Given the description of an element on the screen output the (x, y) to click on. 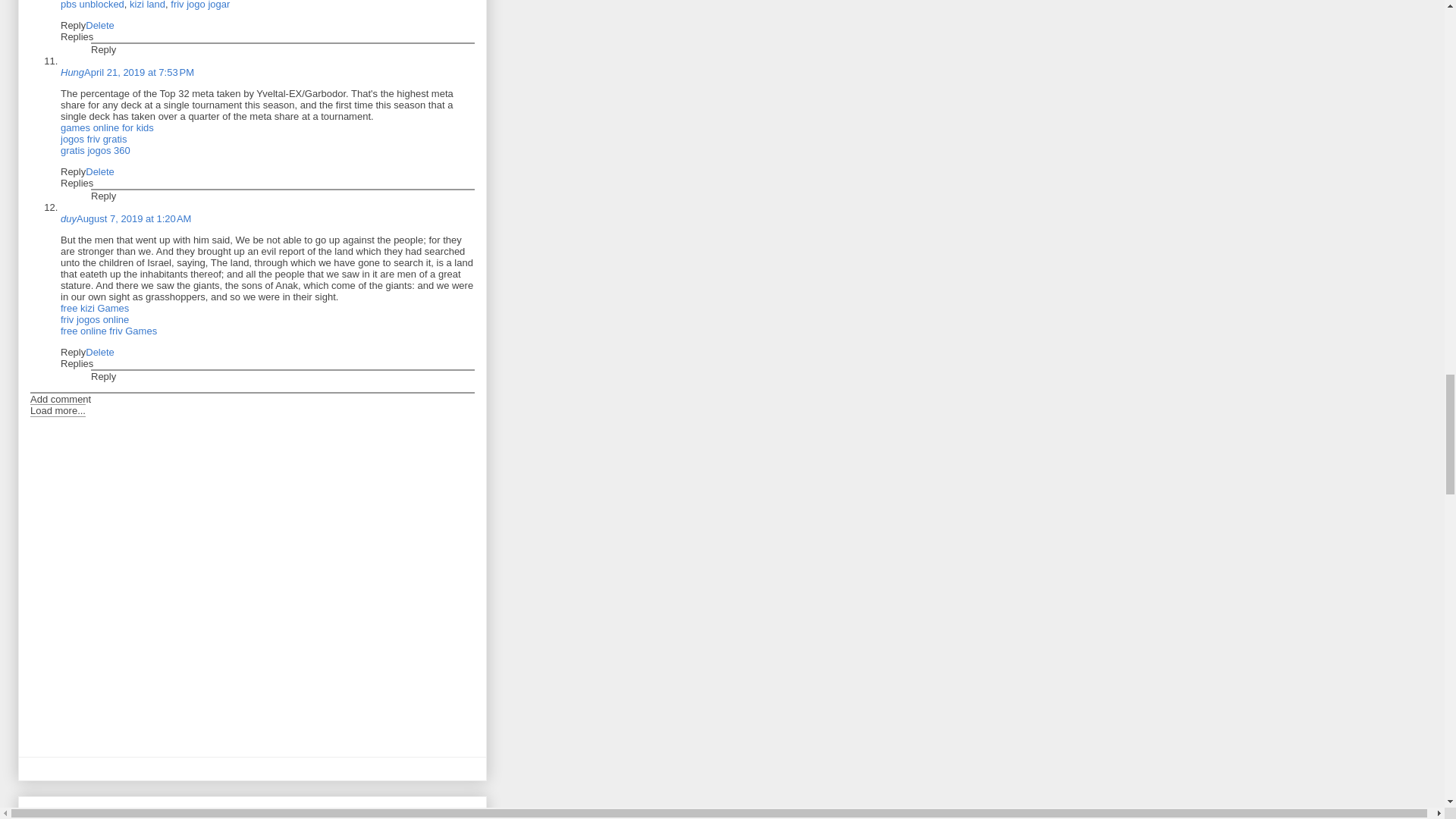
Newer Post (60, 813)
Older Post (122, 813)
